Given the description of an element on the screen output the (x, y) to click on. 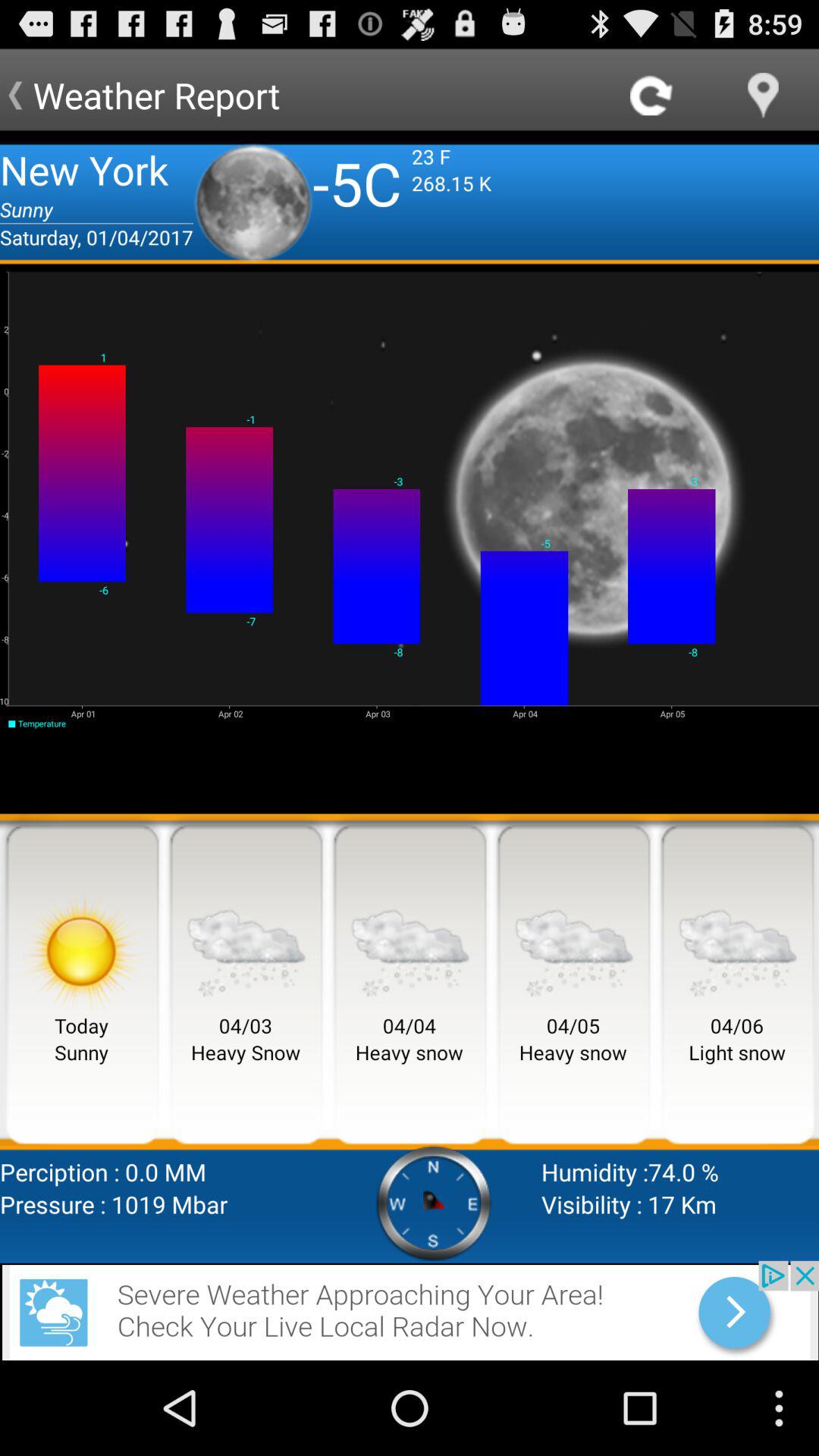
live radar here (409, 1310)
